Given the description of an element on the screen output the (x, y) to click on. 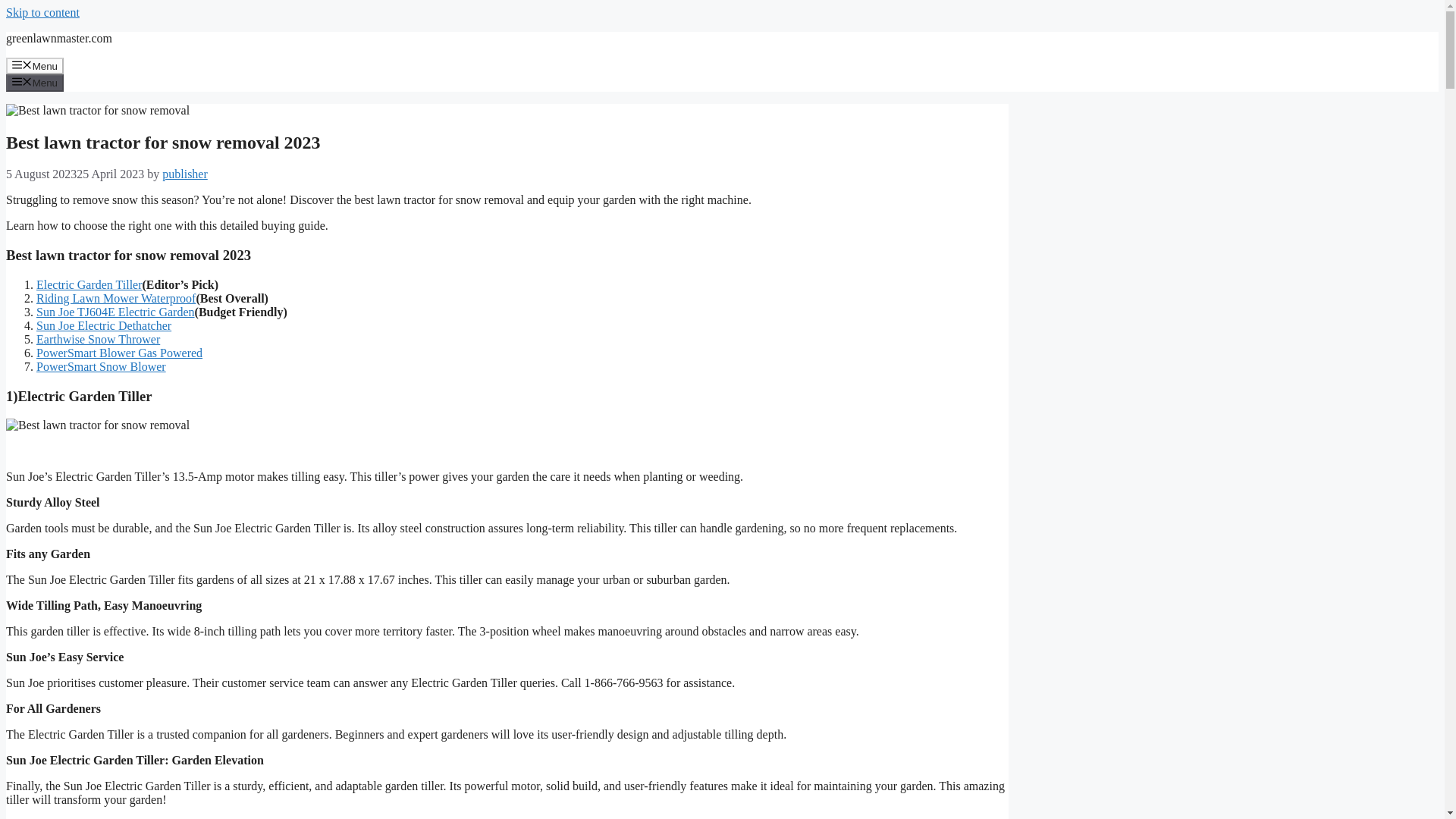
Electric Garden Tiller (89, 284)
publisher (184, 173)
View all posts by publisher (184, 173)
Skip to content (42, 11)
Sun Joe Electric Dethatcher (103, 325)
Riding Lawn Mower Waterproof (115, 297)
Menu (34, 65)
Earthwise Snow Thrower (98, 338)
Menu (34, 82)
greenlawnmaster.com (58, 38)
